Given the description of an element on the screen output the (x, y) to click on. 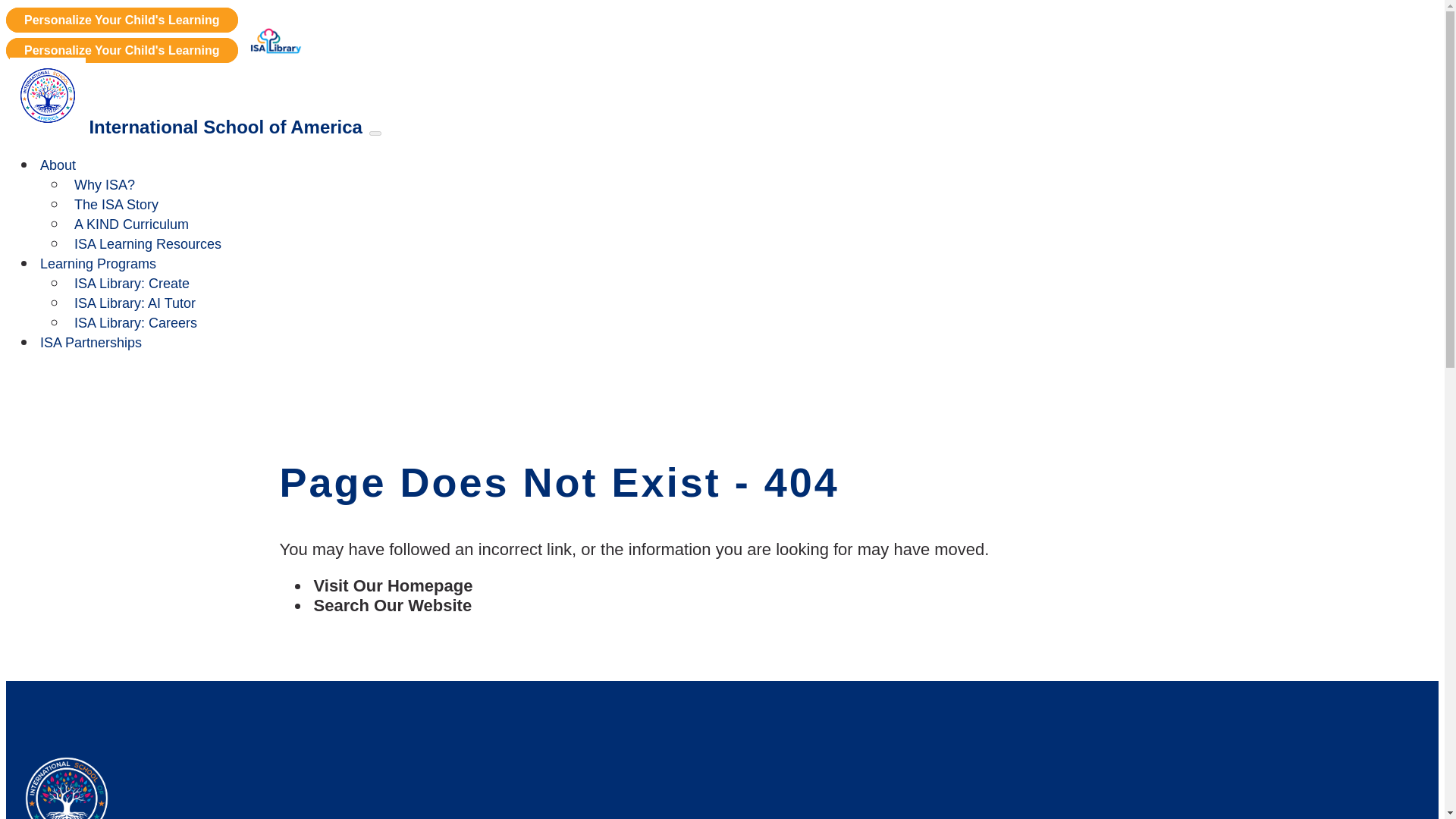
ISA Learning Resources (147, 244)
International School of America (185, 129)
A KIND Curriculum (131, 224)
The ISA Story (115, 204)
Visit Our Homepage (392, 585)
Why ISA? (104, 184)
About (58, 165)
Search Our Website (392, 605)
ISA Partnerships (90, 342)
ISA Library: Create (131, 283)
Learning Programs (98, 263)
Why Choose the ISA Library? (121, 50)
ISA Library: Careers (135, 322)
Personalize Your Child's Learning (121, 19)
ISA Library: AI Tutor (134, 303)
